Given the description of an element on the screen output the (x, y) to click on. 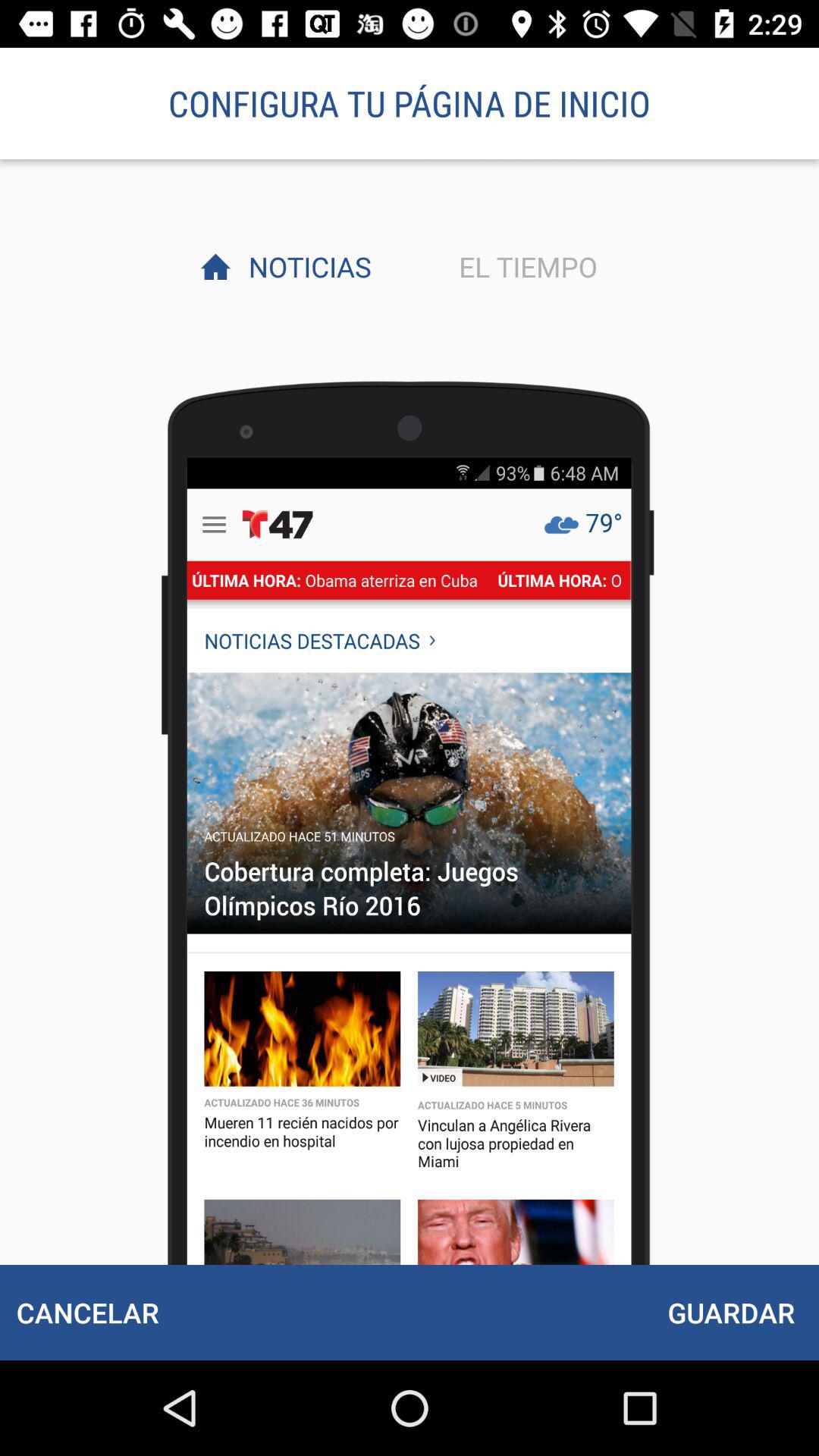
tap item next to el tiempo item (305, 266)
